Given the description of an element on the screen output the (x, y) to click on. 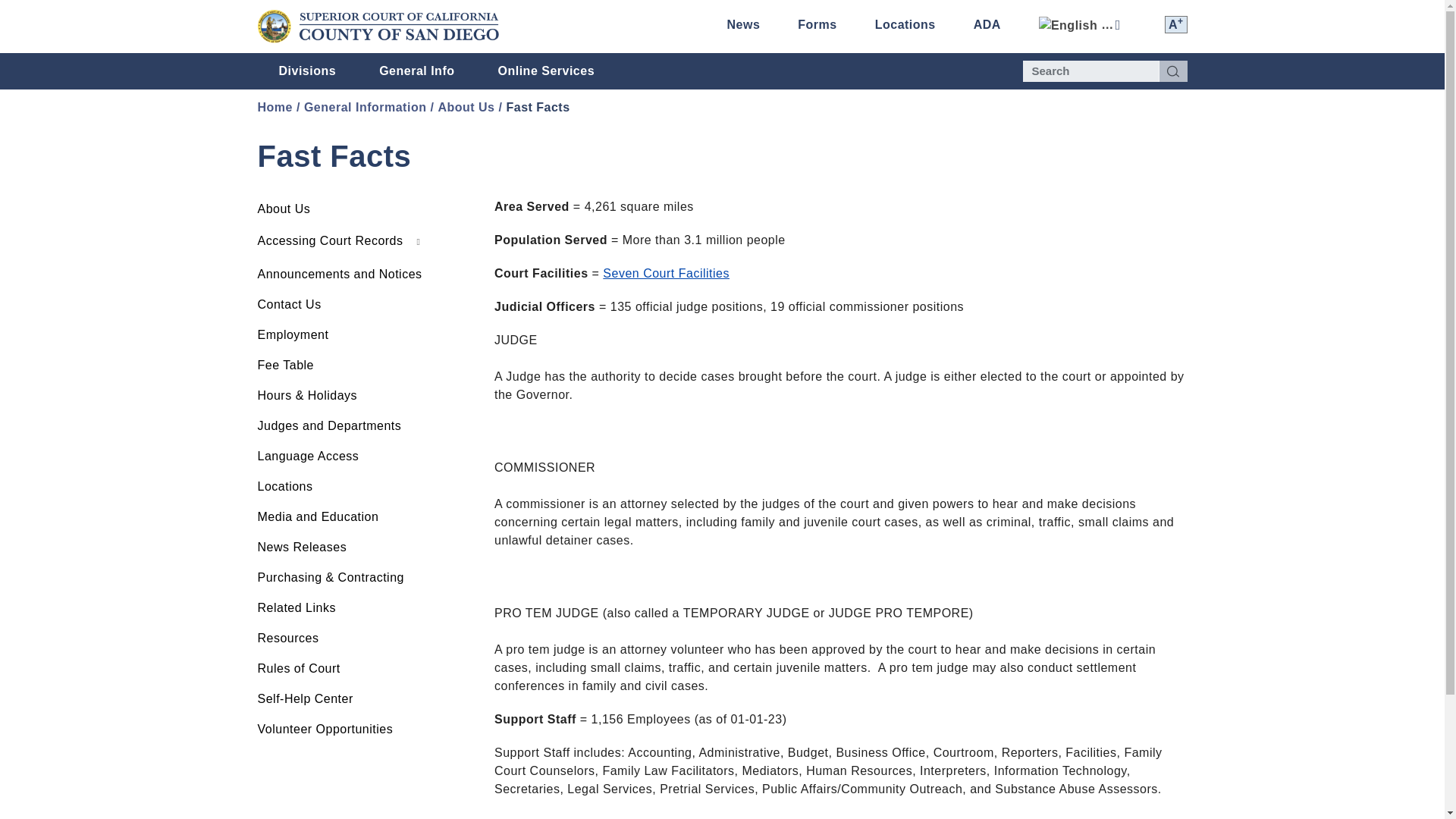
Forms (816, 24)
Locations (905, 24)
Home (378, 26)
Divisions (307, 71)
General Info (417, 71)
Search (1171, 70)
Click to resize the texts (1176, 24)
English (1082, 25)
News (743, 24)
ADA (987, 24)
